Given the description of an element on the screen output the (x, y) to click on. 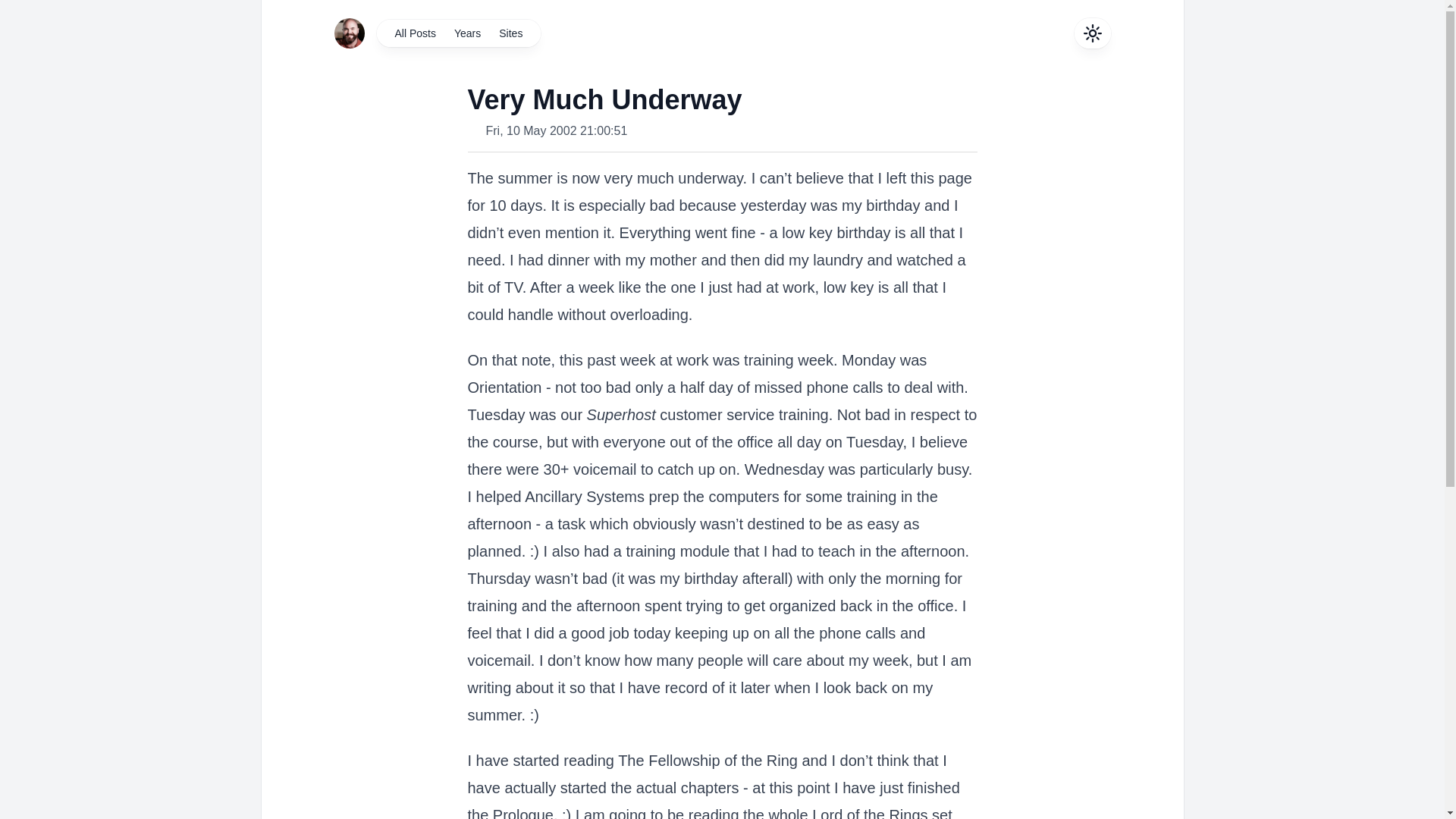
Years (467, 32)
All Posts (414, 32)
Sites (510, 32)
